Given the description of an element on the screen output the (x, y) to click on. 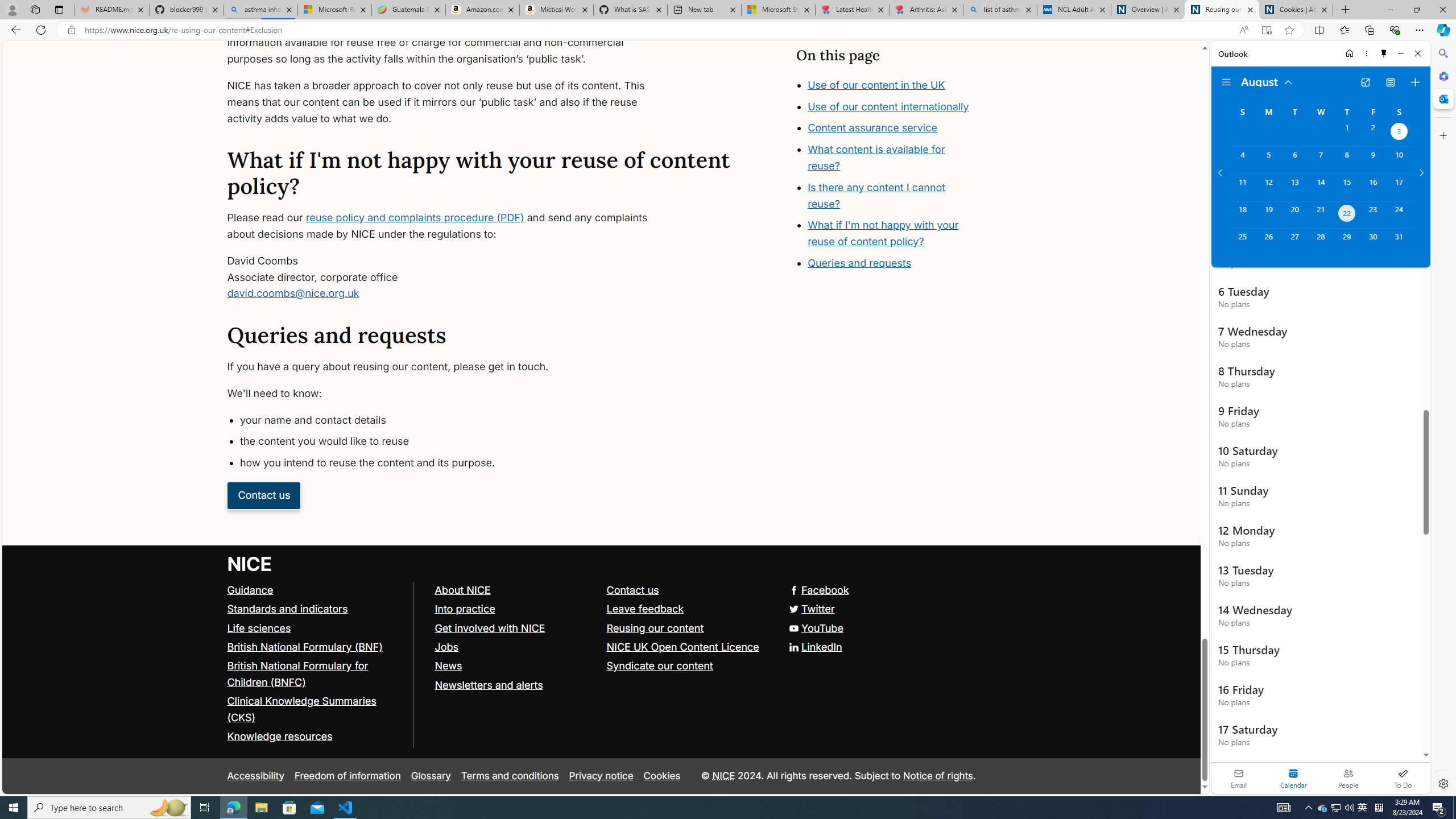
LinkedIn (815, 646)
About NICE (514, 589)
Get involved with NICE (514, 628)
Go to NICE home page (250, 563)
Facebook (601, 589)
Terms and conditions (509, 775)
View Switcher. Current view is Agenda view (1390, 82)
Wednesday, August 7, 2024.  (1320, 159)
Open in new tab (1365, 82)
